Given the description of an element on the screen output the (x, y) to click on. 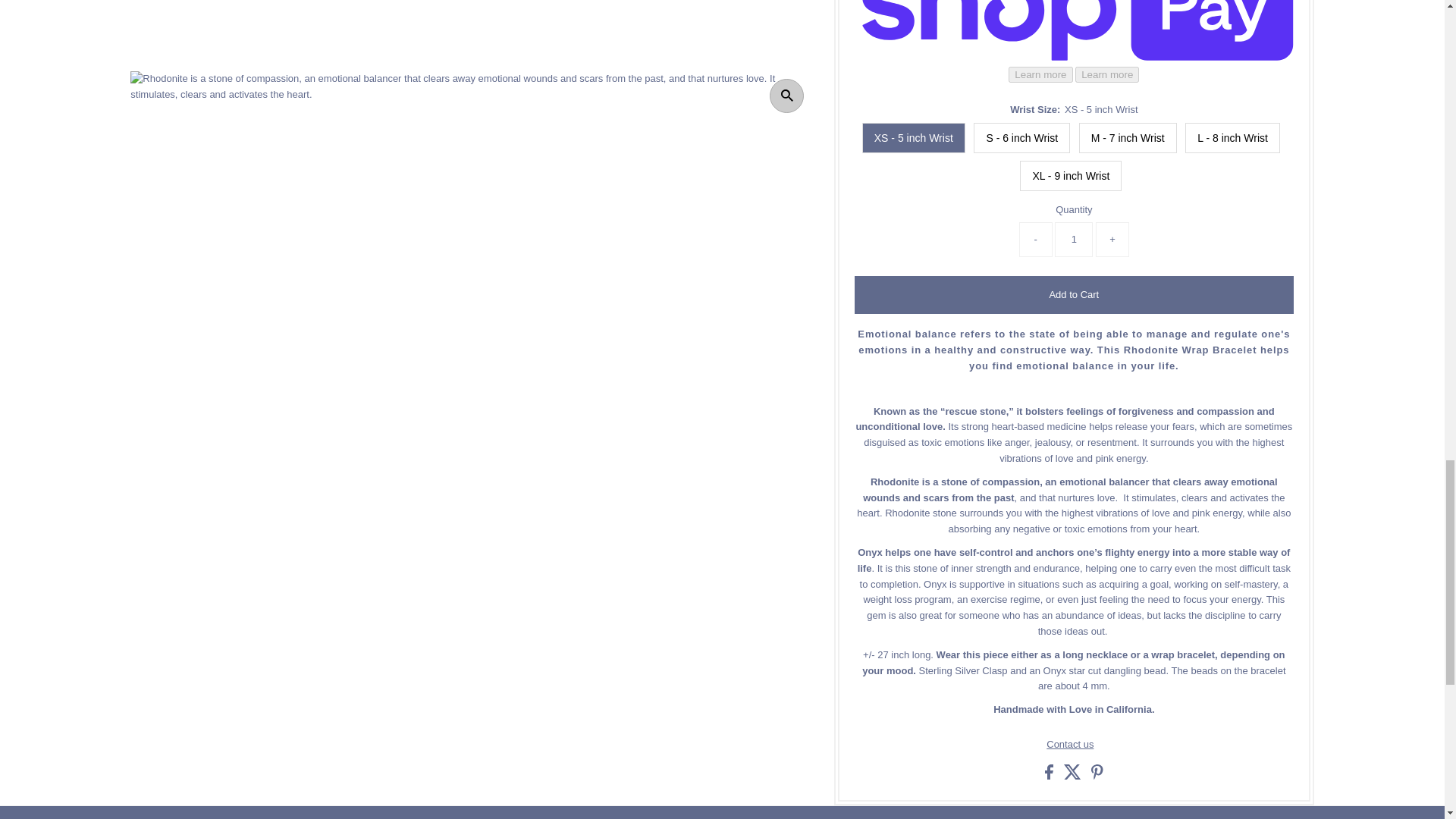
Click to zoom (786, 95)
